Given the description of an element on the screen output the (x, y) to click on. 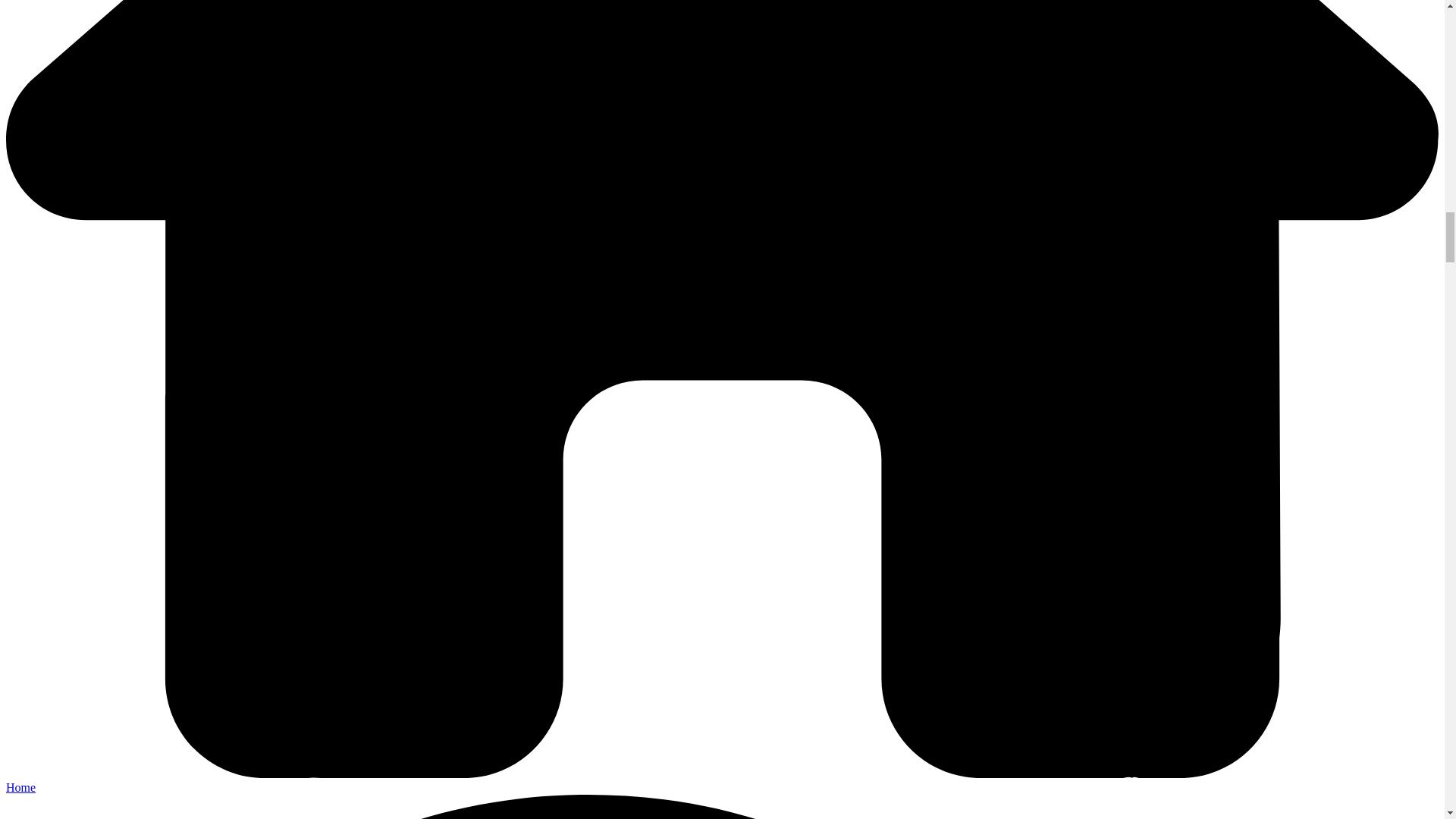
Home (19, 787)
